Given the description of an element on the screen output the (x, y) to click on. 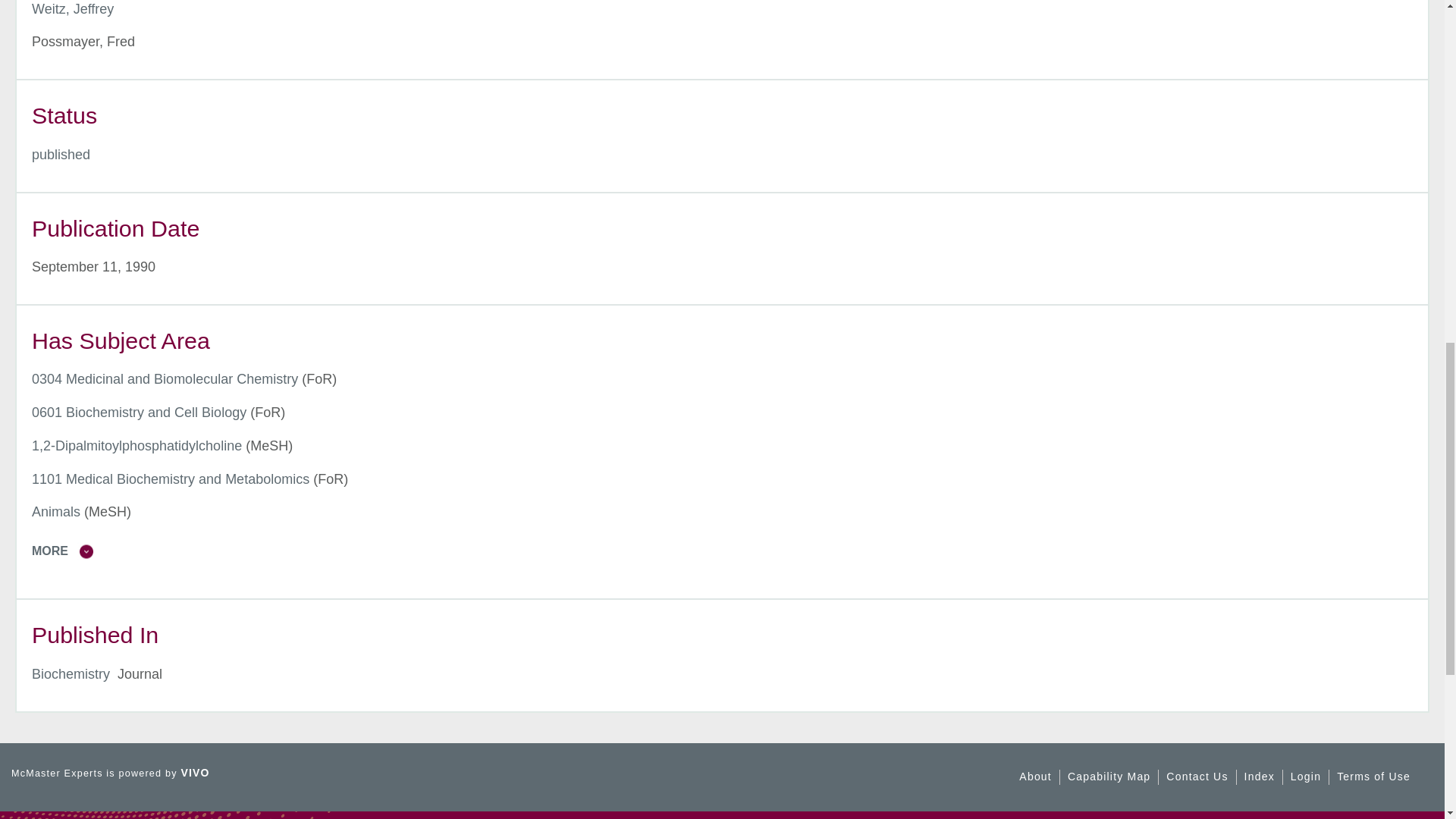
concept name (56, 511)
concept name (136, 445)
name (61, 154)
author name (72, 8)
concept name (170, 478)
concept name (139, 412)
concept name (165, 378)
